Given the description of an element on the screen output the (x, y) to click on. 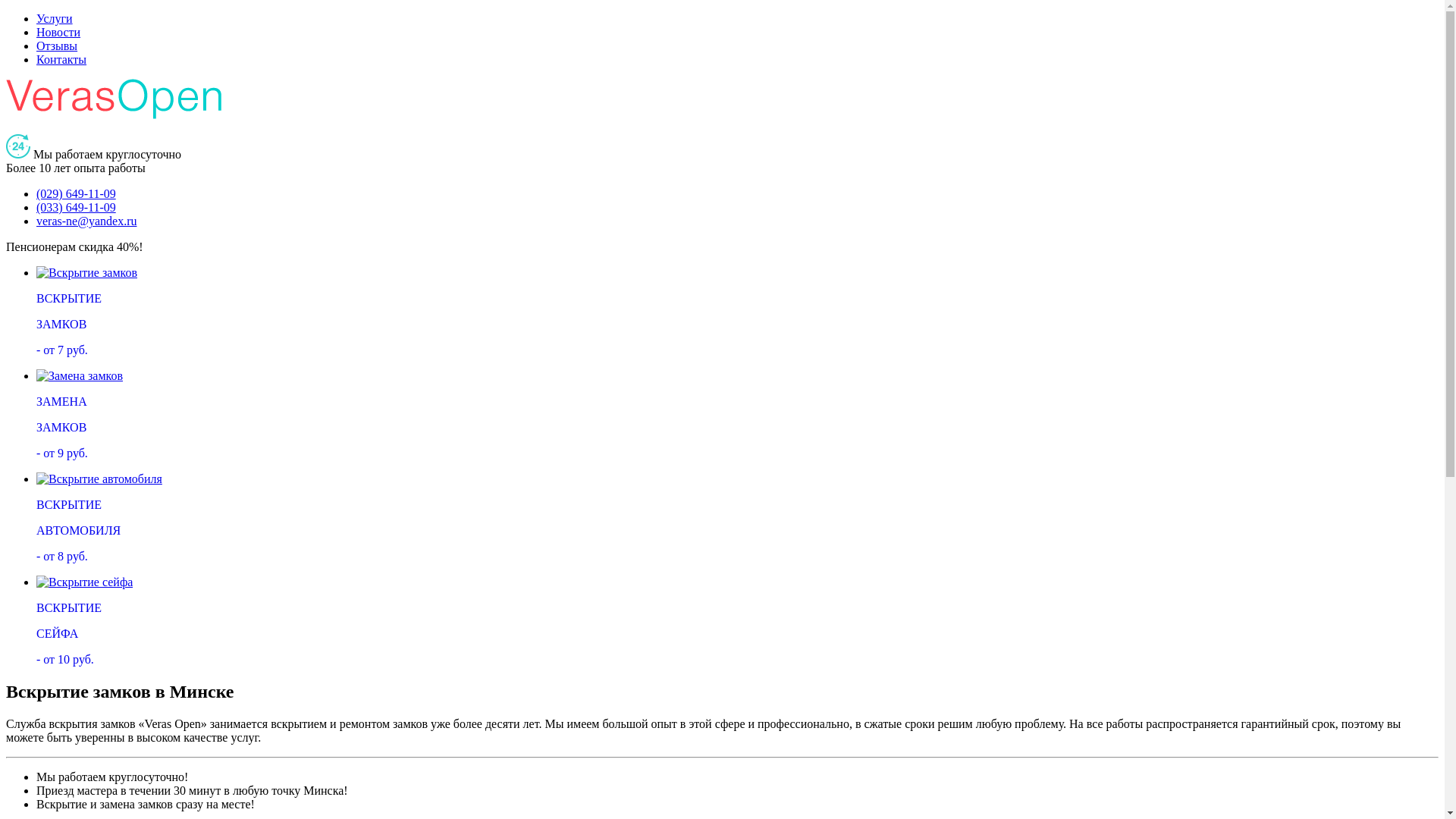
veras-ne@yandex.ru Element type: text (86, 220)
(033) 649-11-09 Element type: text (76, 206)
(029) 649-11-09 Element type: text (76, 193)
